Given the description of an element on the screen output the (x, y) to click on. 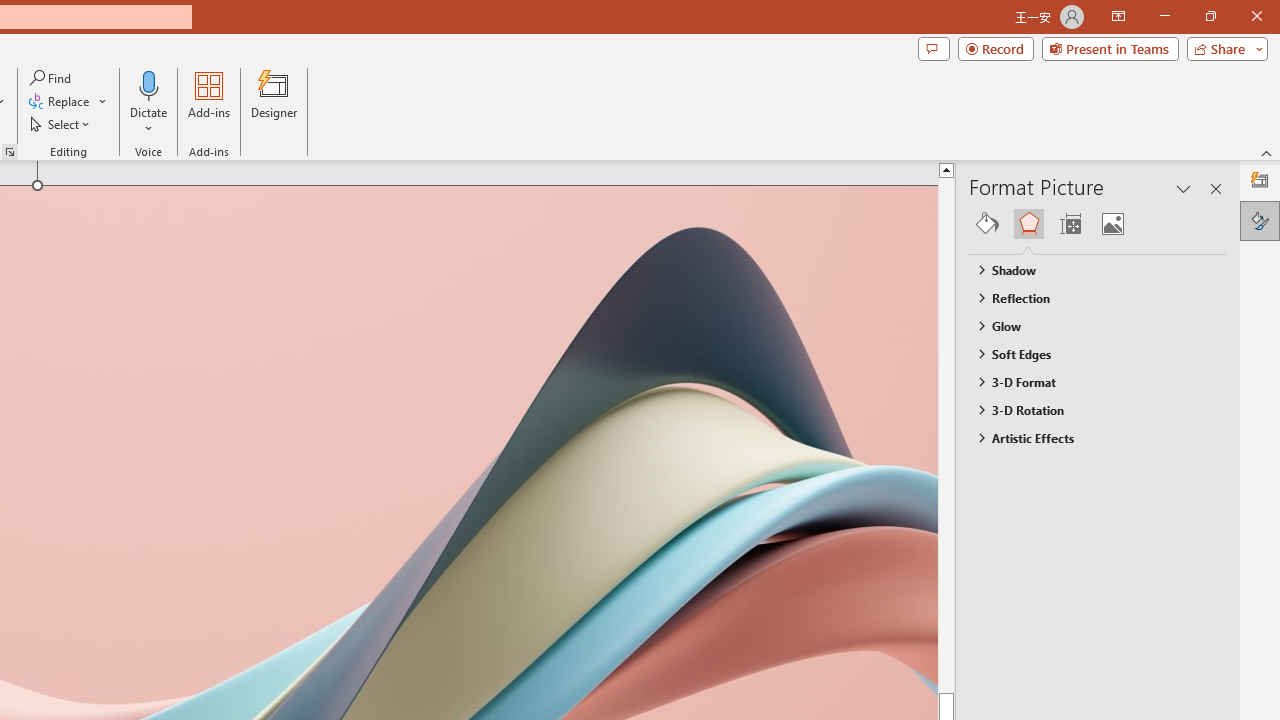
Soft Edges (1088, 353)
Glow (1088, 325)
Effects (1028, 223)
Picture (1112, 223)
Format Picture (1260, 220)
3-D Rotation (1088, 410)
3-D Format (1088, 381)
